Given the description of an element on the screen output the (x, y) to click on. 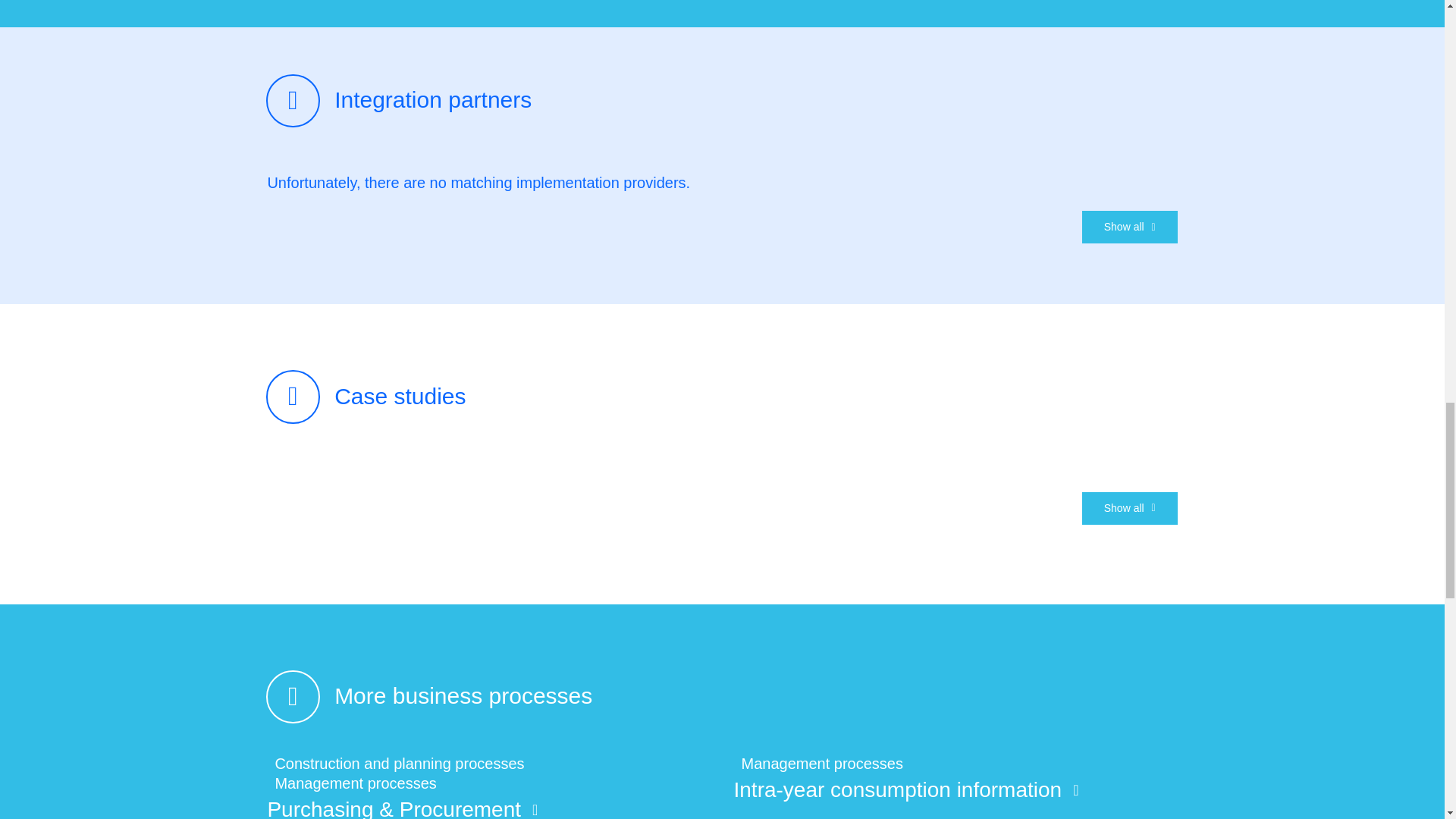
Show all (1129, 226)
Show all (1129, 508)
